Given the description of an element on the screen output the (x, y) to click on. 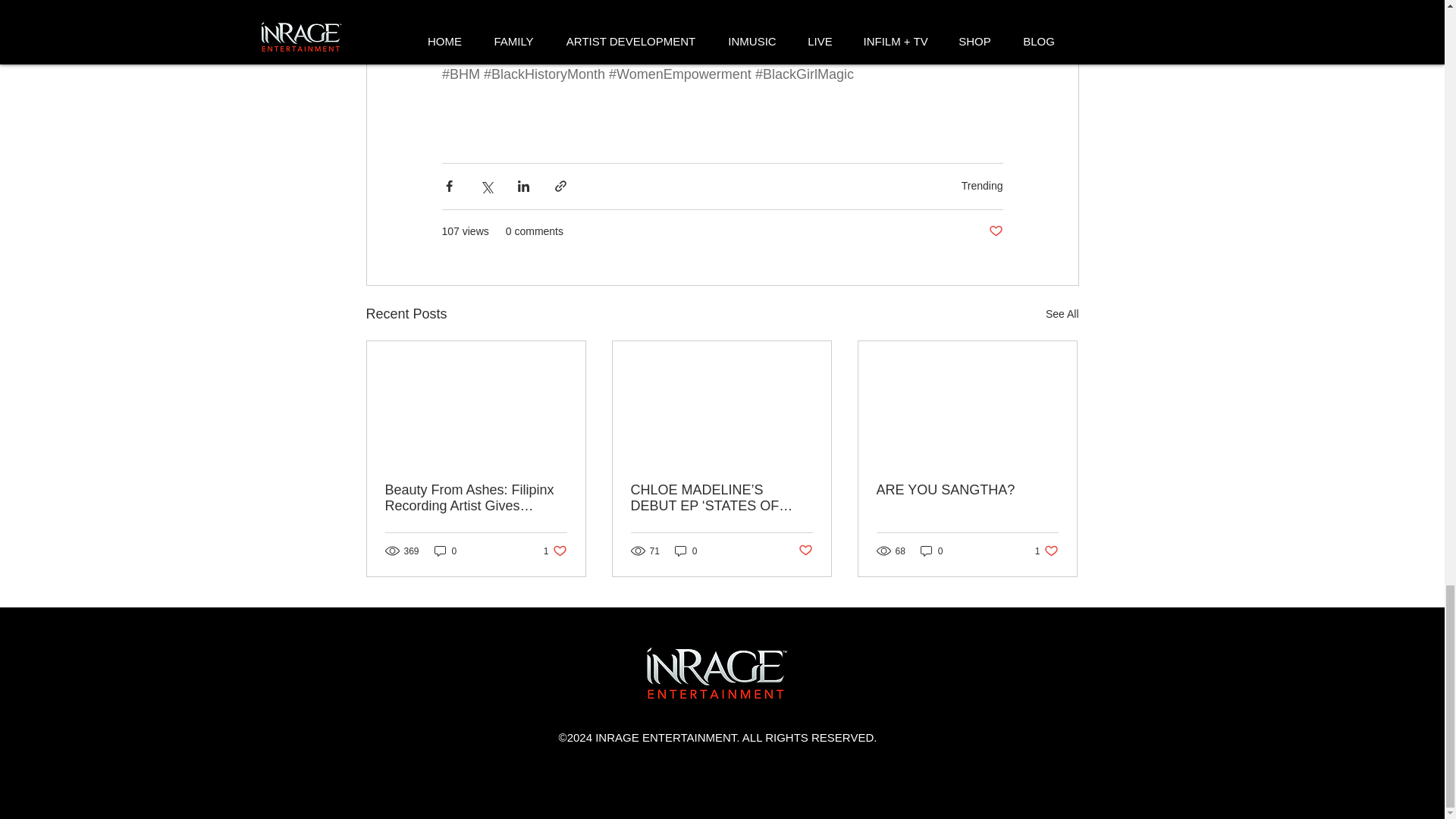
Twitter Logo Png.png (717, 674)
